Given the description of an element on the screen output the (x, y) to click on. 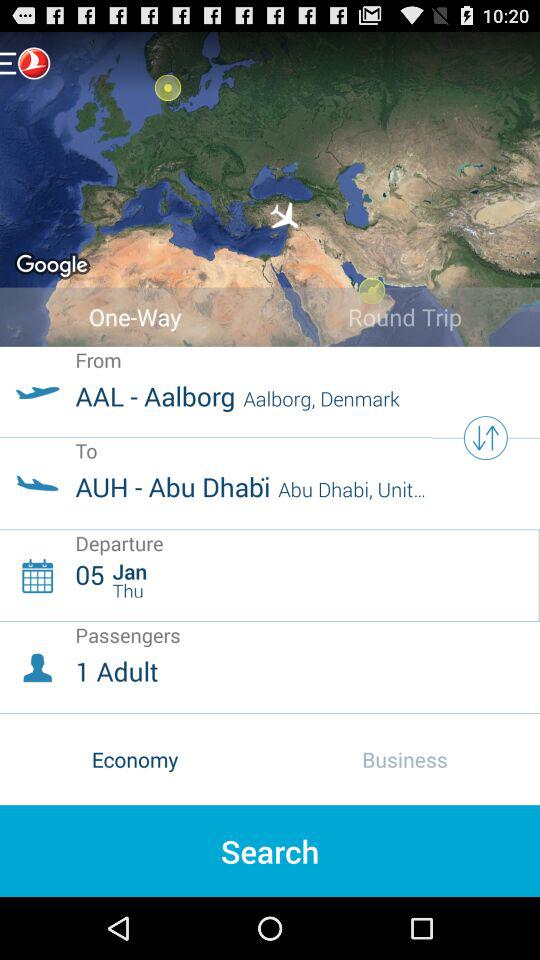
open menu (25, 62)
